Given the description of an element on the screen output the (x, y) to click on. 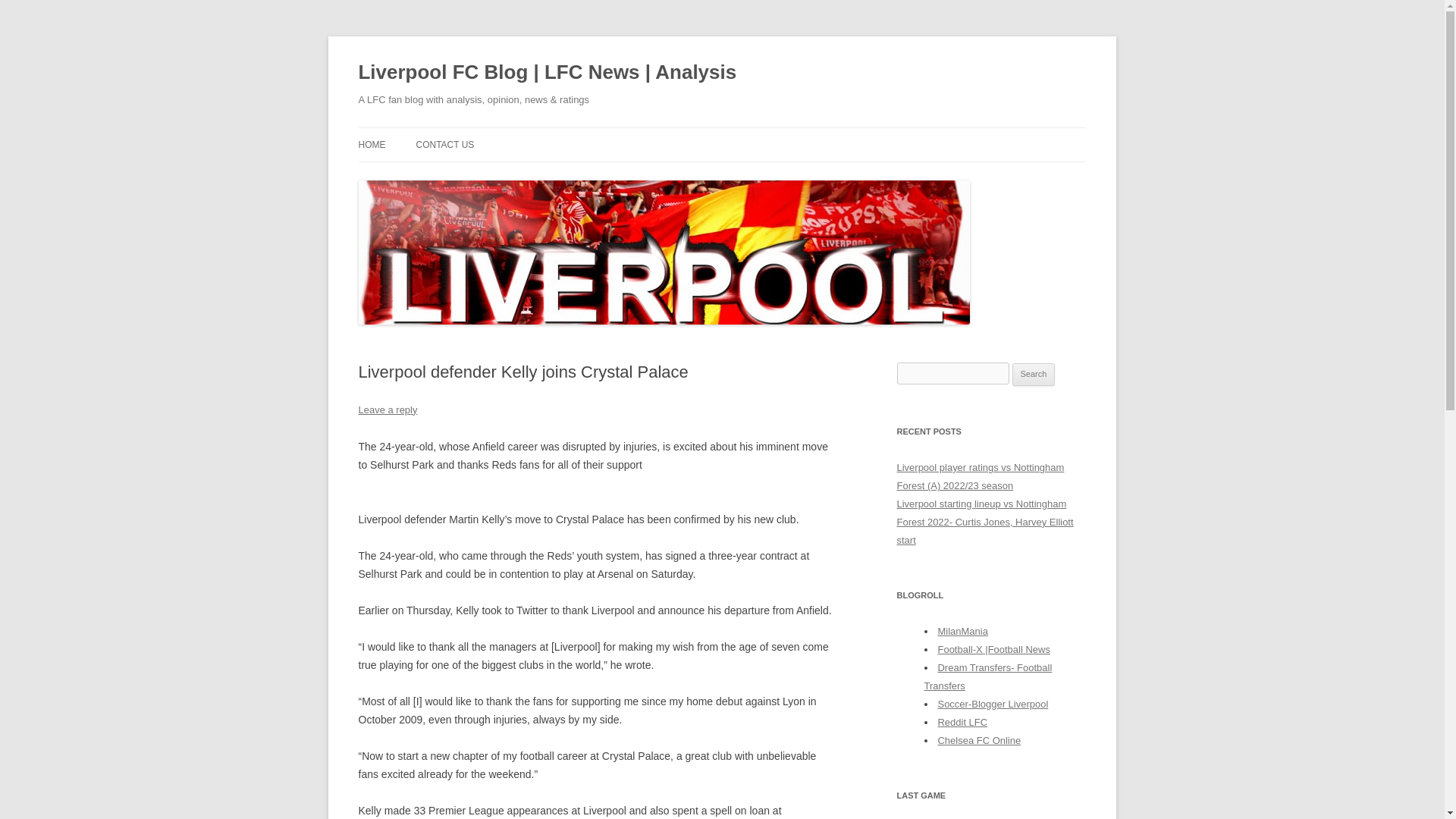
MilanMania (962, 631)
Chelsea FC Online (978, 740)
Search (1033, 374)
Leave a reply (387, 409)
Soccer-Blogger Liverpool (992, 704)
Reddit LFC (962, 722)
HOME (371, 144)
Search (1033, 374)
CONTACT US (444, 144)
Dream Transfers- Football Transfers (987, 676)
